Given the description of an element on the screen output the (x, y) to click on. 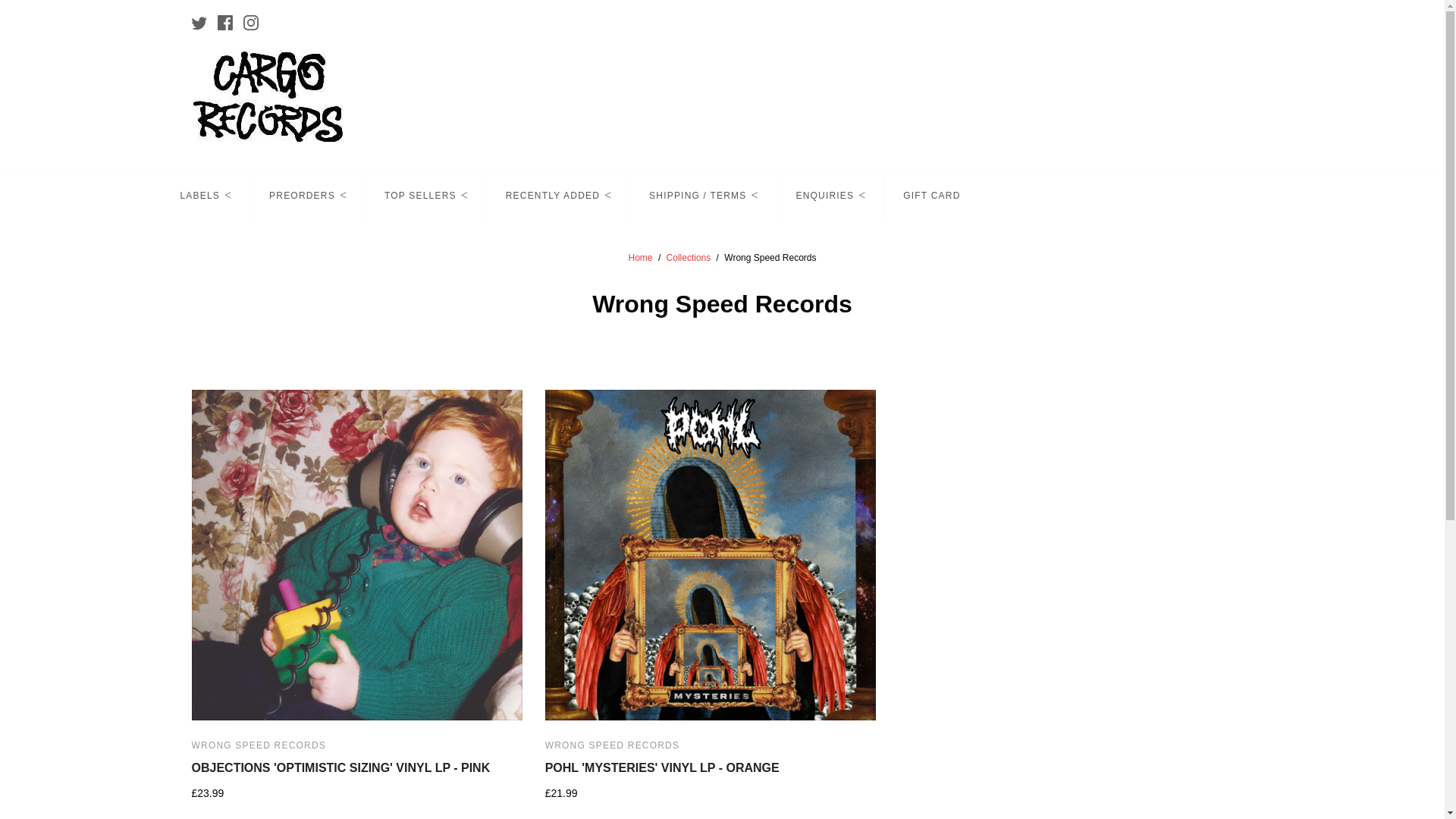
GIFT CARD (930, 195)
Wrong Speed Records (611, 745)
Wrong Speed Records (257, 745)
